Given the description of an element on the screen output the (x, y) to click on. 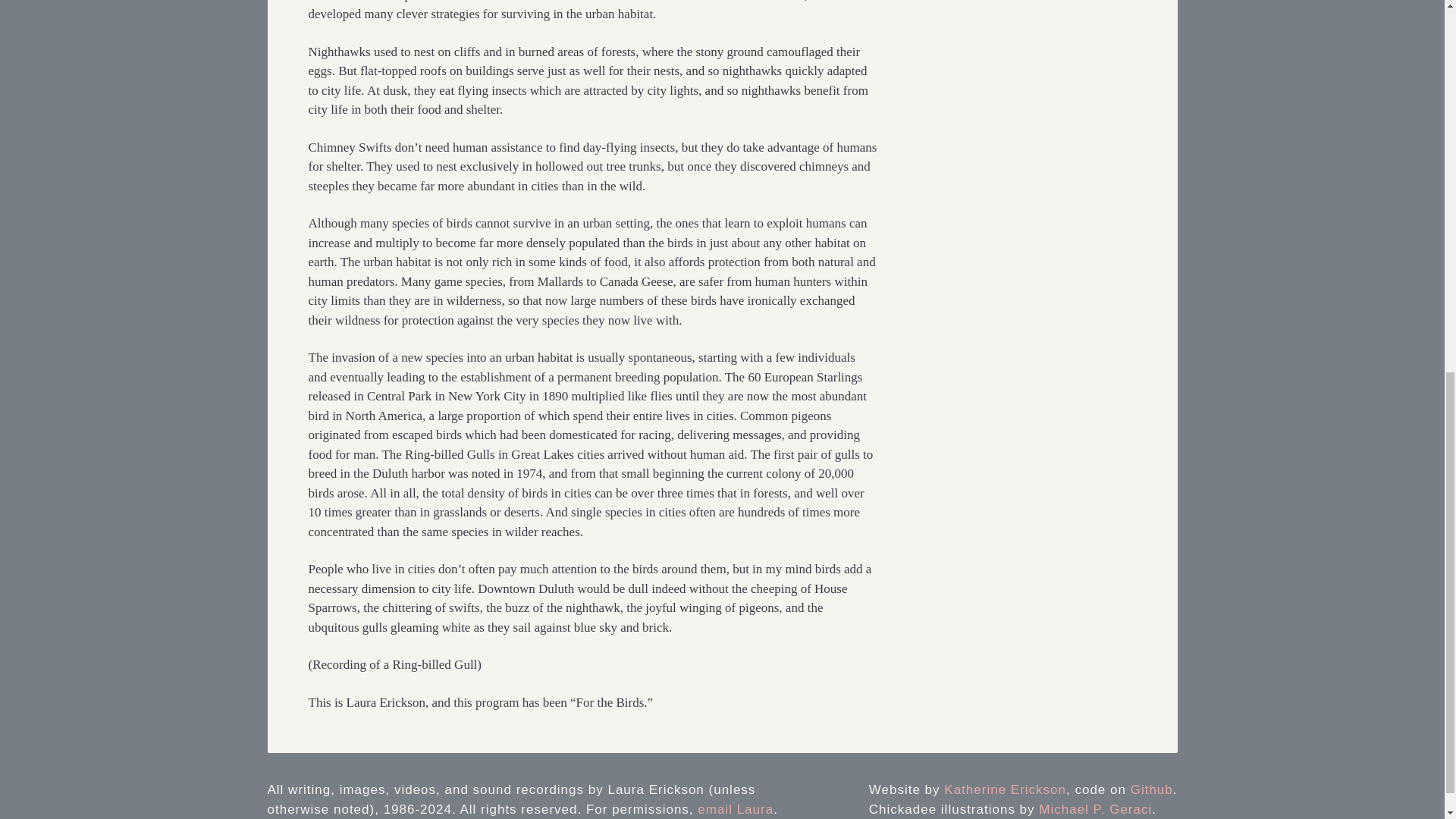
Github (1152, 789)
Katherine Erickson (1004, 789)
email Laura (735, 809)
Michael P. Geraci (1095, 809)
